Given the description of an element on the screen output the (x, y) to click on. 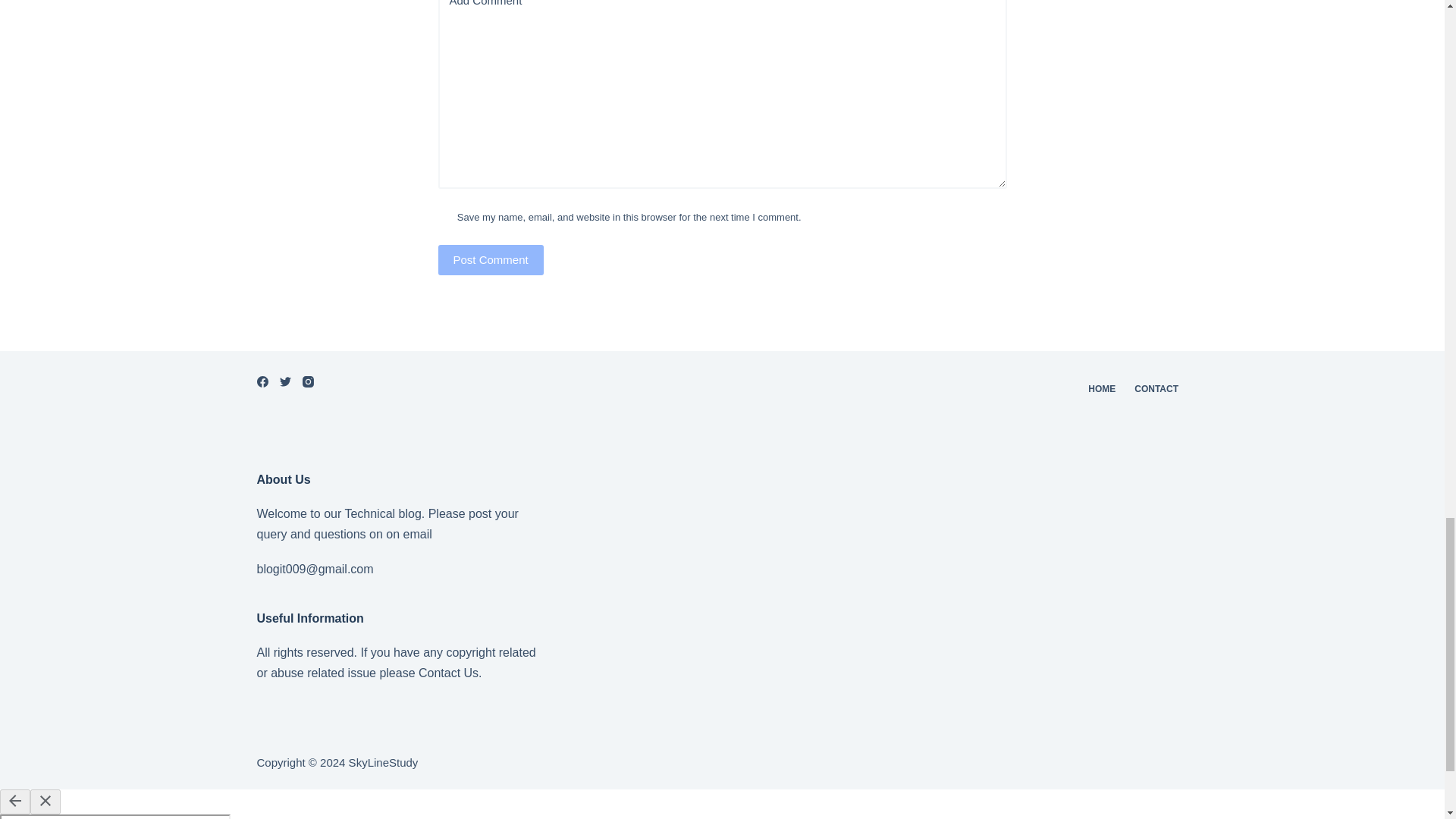
yes (443, 216)
